Given the description of an element on the screen output the (x, y) to click on. 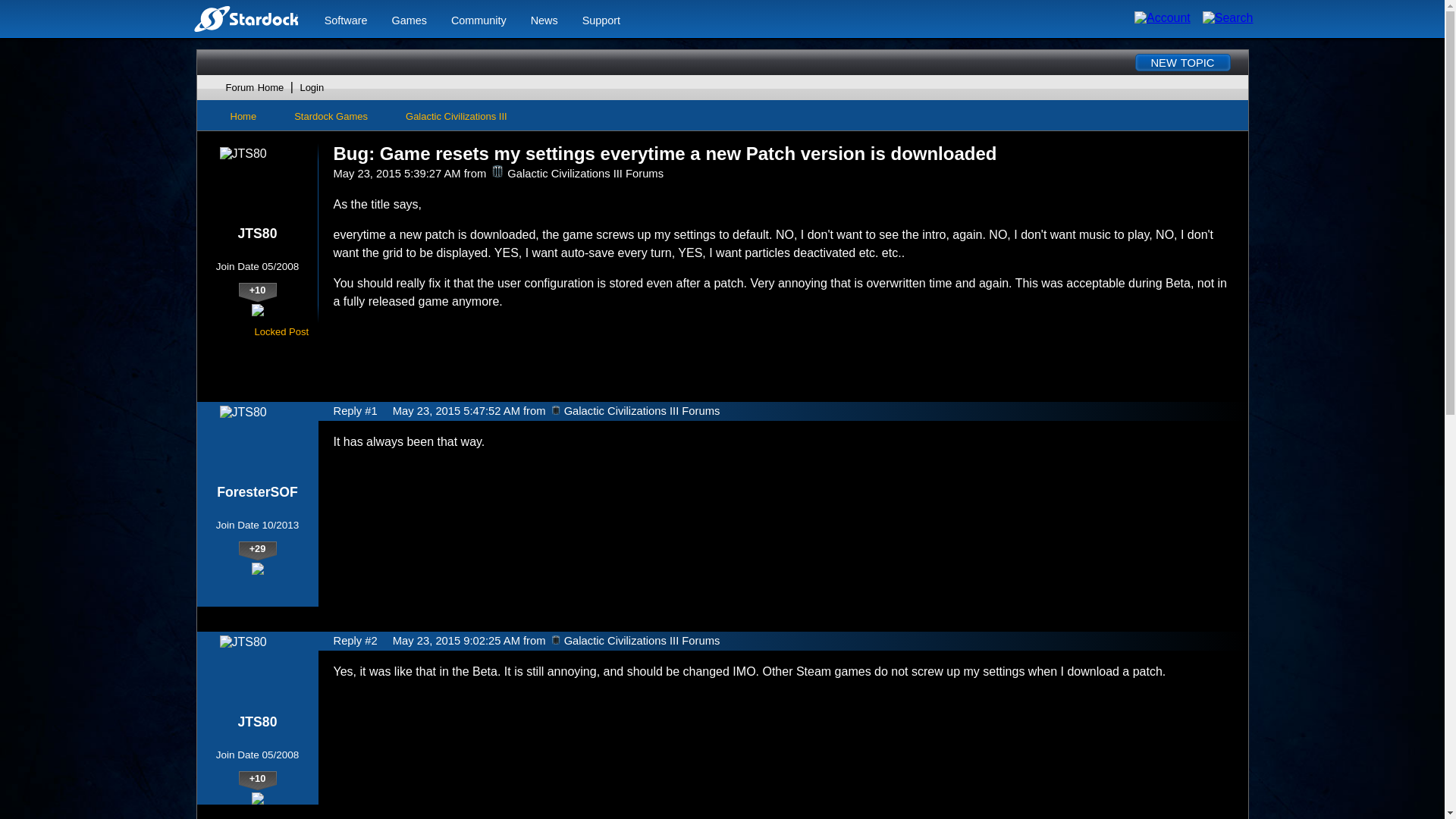
Games (408, 19)
Reply to this post (1211, 331)
Search Stardock (1227, 17)
Click user name to view more options. (258, 233)
Galactic Civilizations III Forums (497, 171)
View ForesterSOF's Karma (257, 551)
Support (601, 19)
Super Active Commenter - Replied over 1,000 times (255, 580)
Login (311, 87)
